Given the description of an element on the screen output the (x, y) to click on. 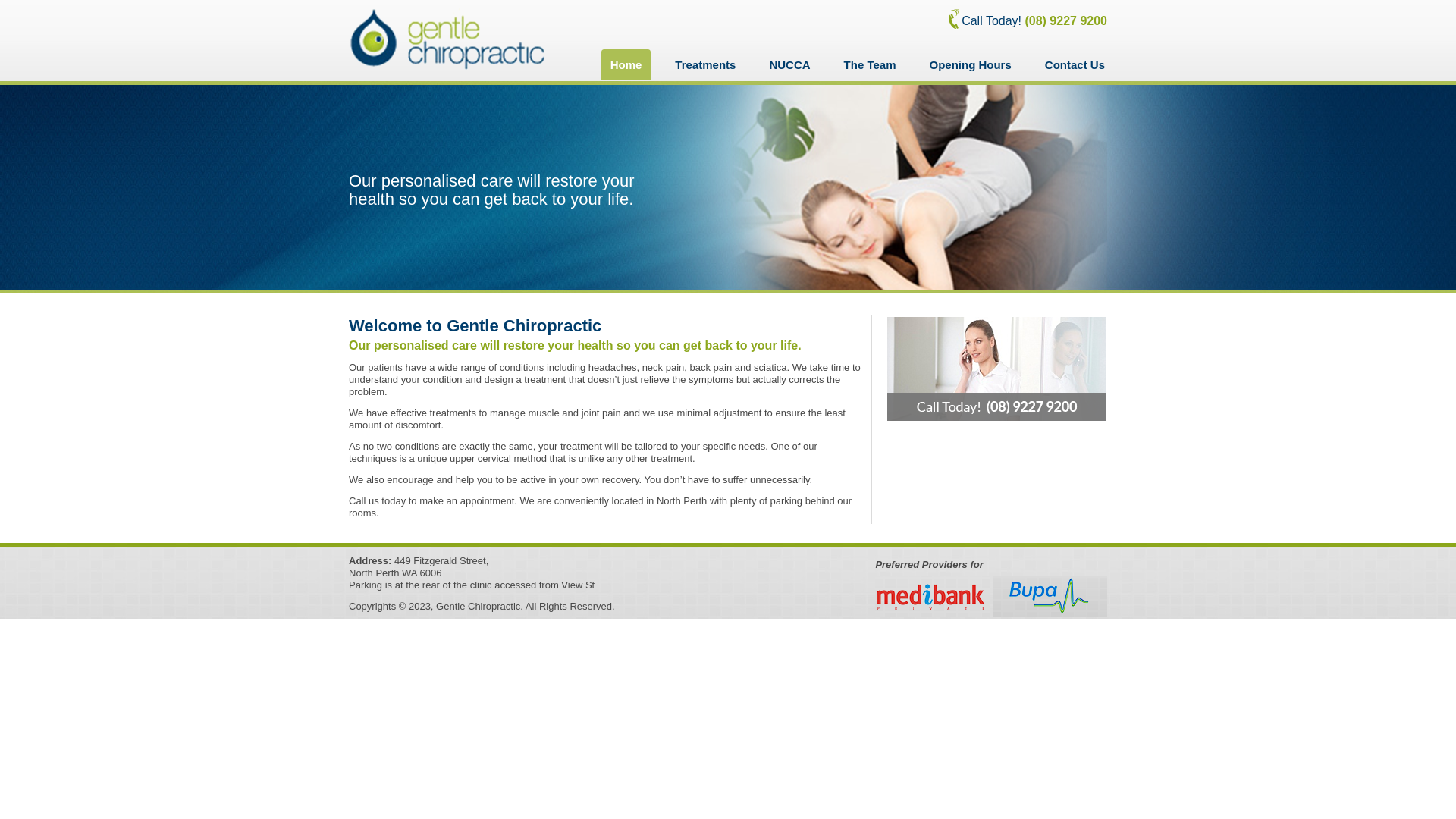
Treatments Element type: text (704, 64)
Opening Hours Element type: text (969, 64)
Home Element type: text (626, 64)
The Team Element type: text (869, 64)
NUCCA Element type: text (789, 64)
Contact Us Element type: text (1074, 64)
(08) 9227 9200 Element type: text (1065, 20)
